Given the description of an element on the screen output the (x, y) to click on. 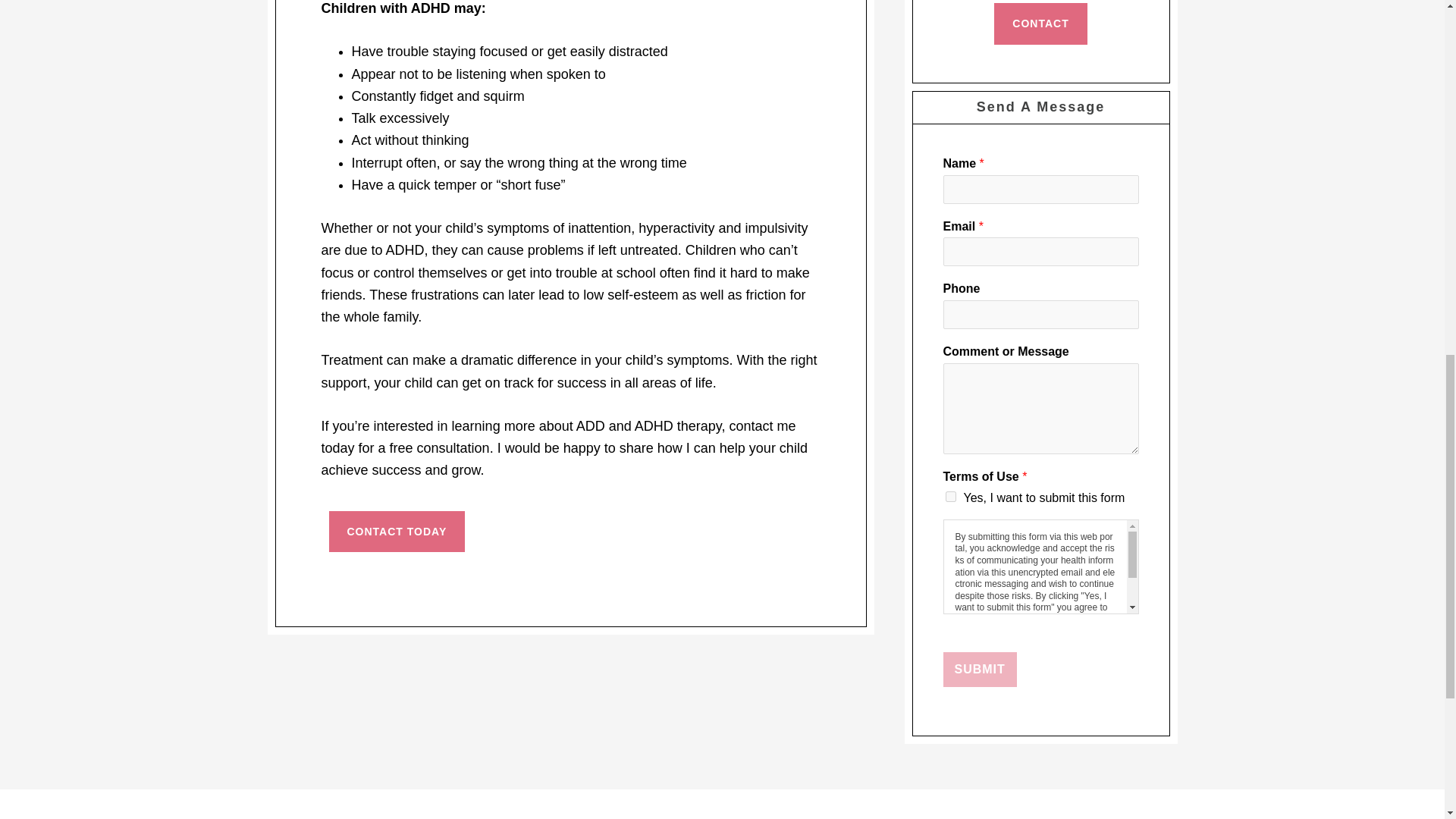
CONTACT TODAY (397, 531)
Yes, I want to submit this form (949, 496)
CONTACT (1040, 24)
